Given the description of an element on the screen output the (x, y) to click on. 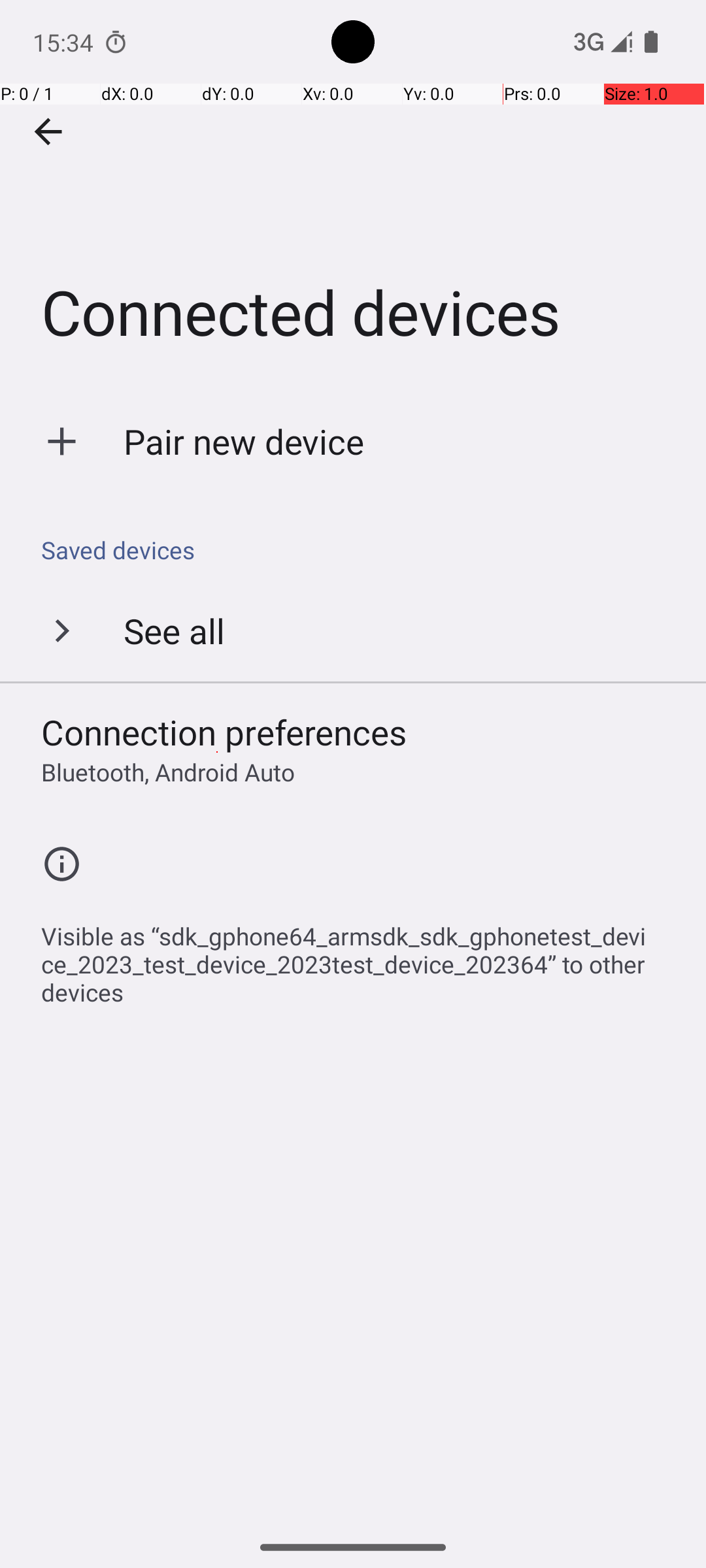
Visible as “sdk_gphone64_armsdk_sdk_gphonetest_device_2023_test_device_2023test_device_202364” to other devices Element type: android.widget.TextView (359, 956)
